Given the description of an element on the screen output the (x, y) to click on. 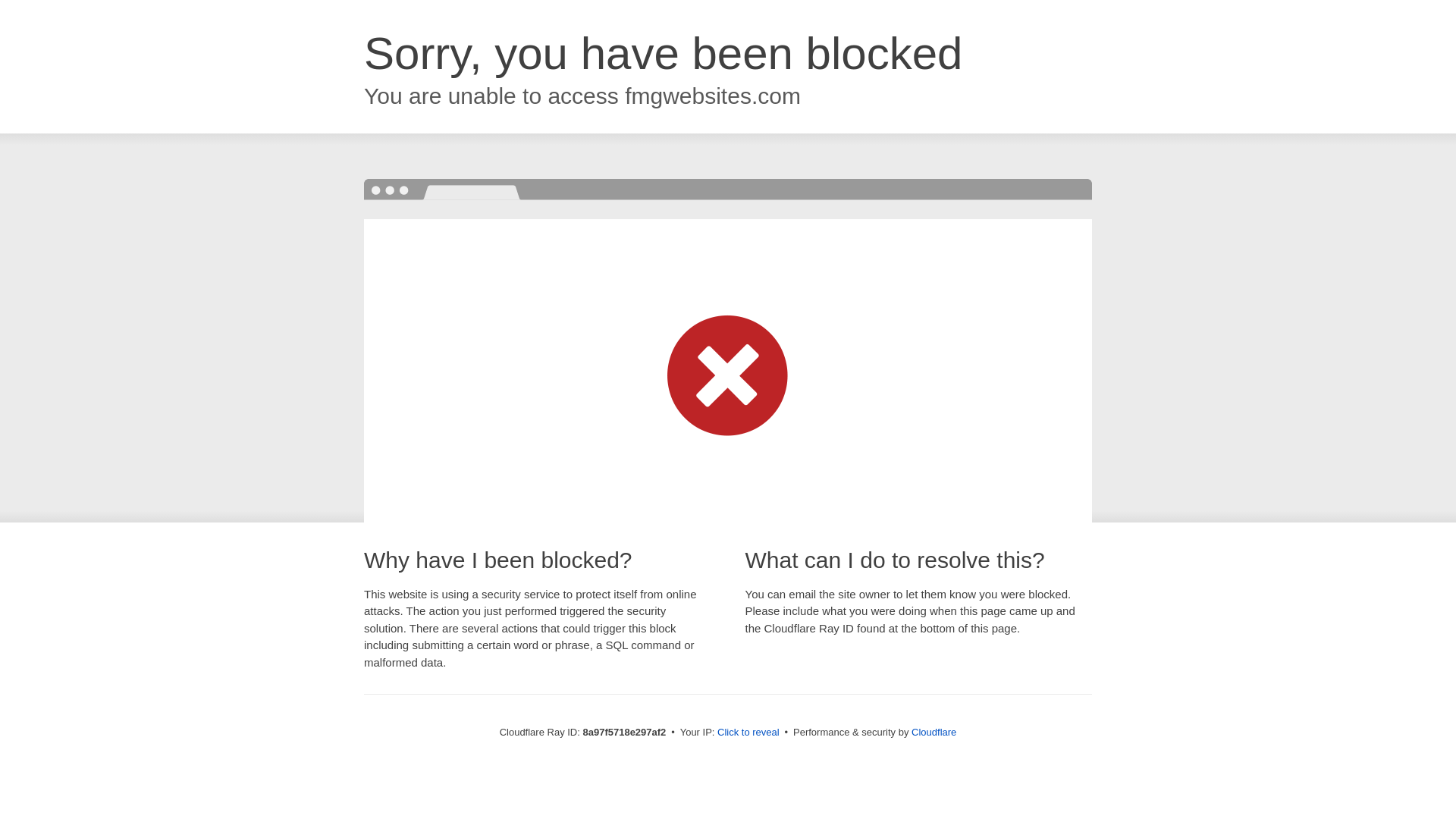
Click to reveal (747, 732)
Cloudflare (933, 731)
